Given the description of an element on the screen output the (x, y) to click on. 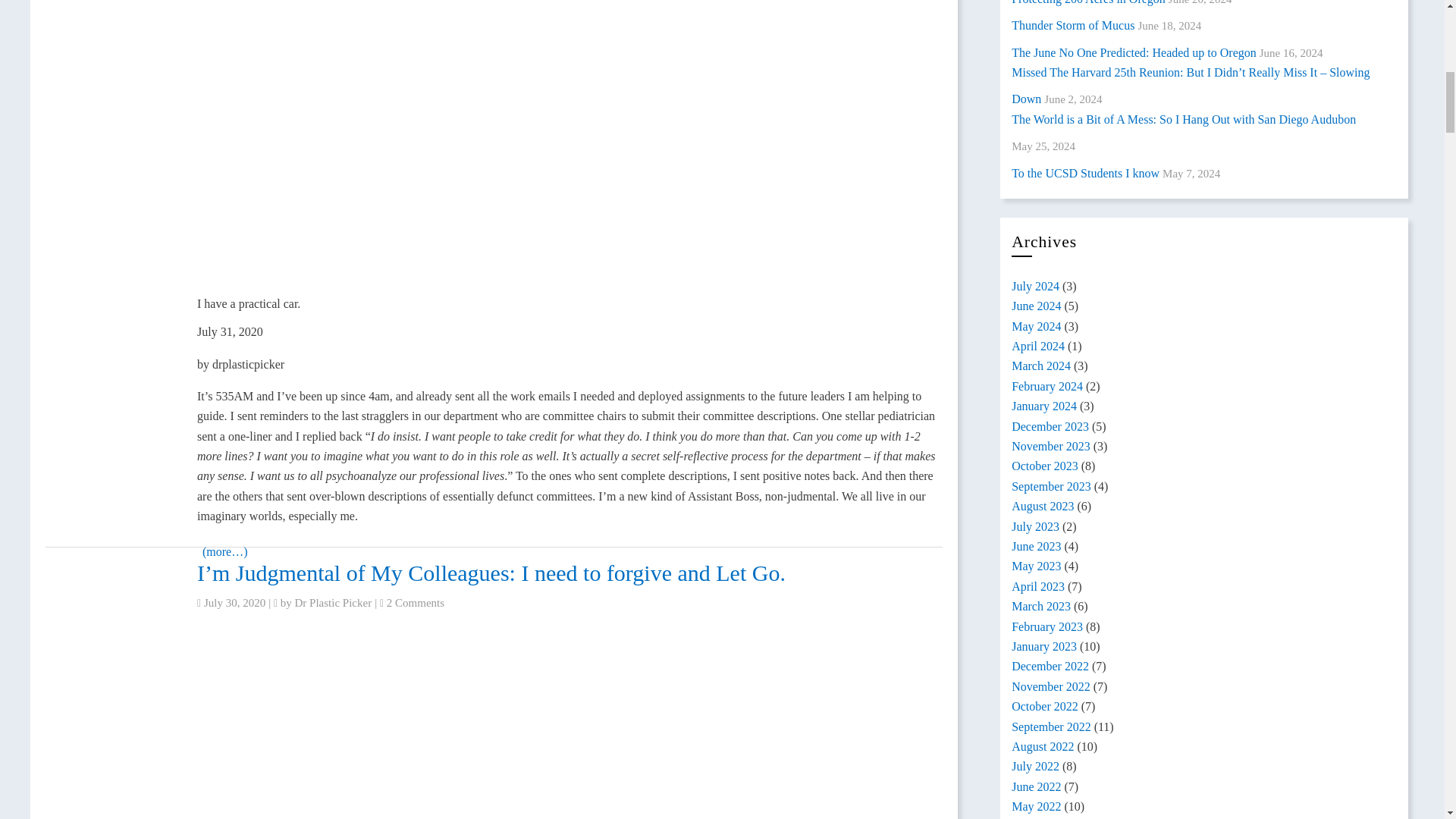
2 Comments (415, 603)
Dr Plastic Picker (333, 603)
